Given the description of an element on the screen output the (x, y) to click on. 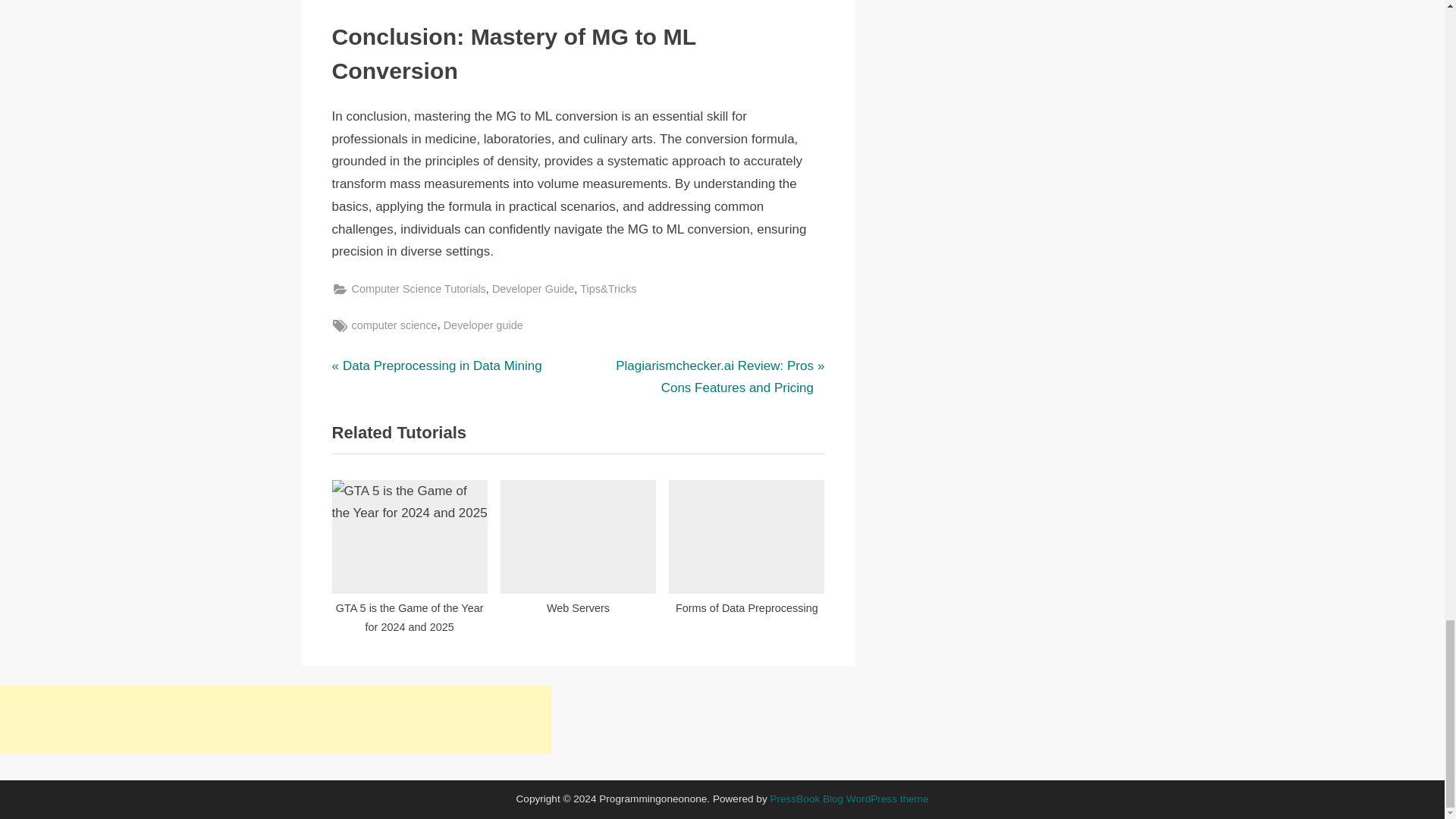
computer science (395, 325)
Developer Guide (532, 289)
GTA 5 is the Game of the Year for 2024 and 2025 (409, 551)
Computer Science Tutorials (419, 289)
Developer guide (436, 365)
